Given the description of an element on the screen output the (x, y) to click on. 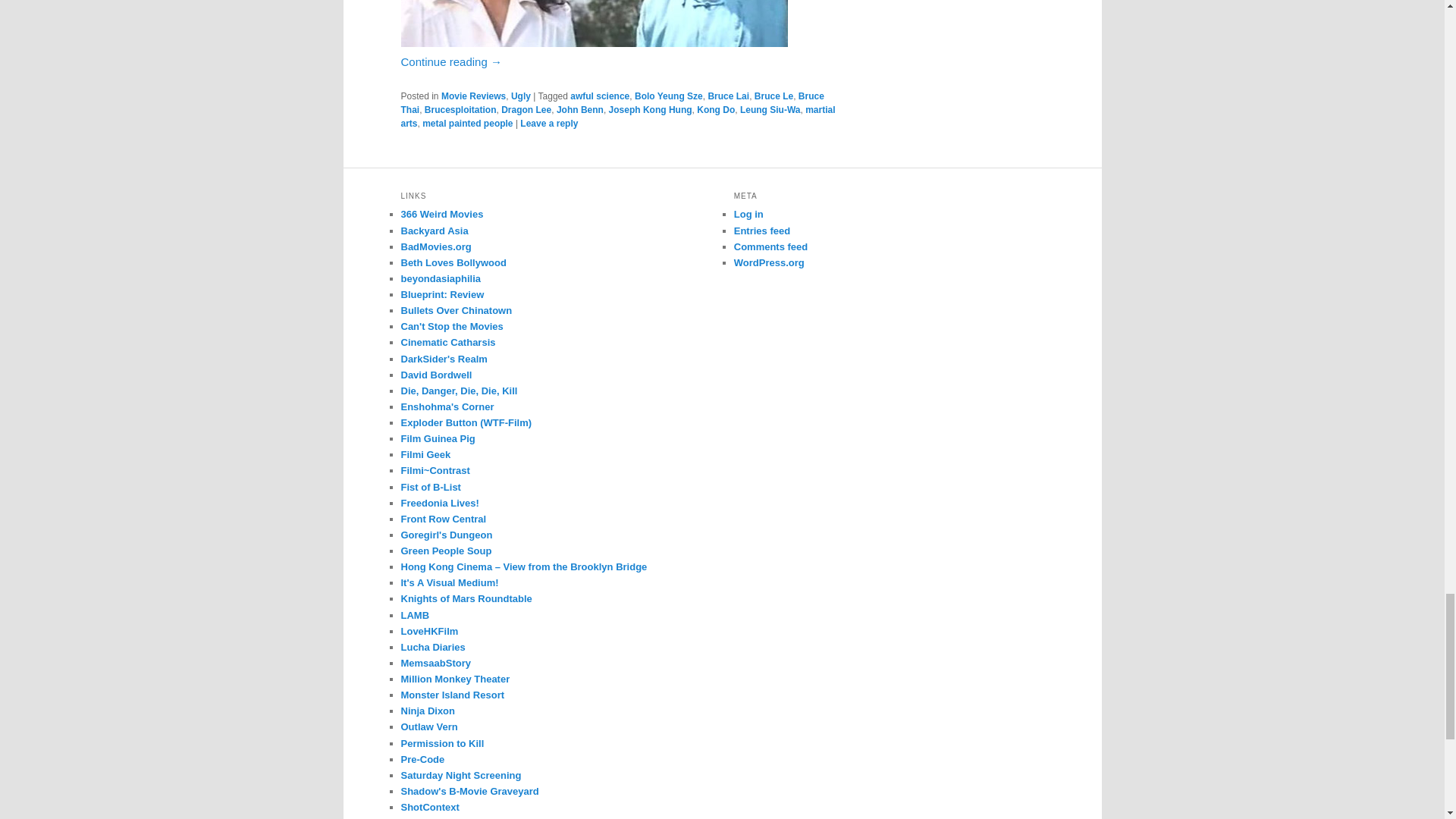
Bruce Lai (728, 95)
Ugly (521, 95)
Bolo Yeung Sze (668, 95)
John Benn (580, 109)
Bruce Le (773, 95)
Joseph Kong Hung (650, 109)
awful science (599, 95)
Movie Reviews (473, 95)
Bruce Thai (612, 102)
Dragon Lee (525, 109)
martial arts (617, 116)
Kong Do (716, 109)
Leave a reply (548, 122)
Leung Siu-Wa (769, 109)
metal painted people (467, 122)
